Given the description of an element on the screen output the (x, y) to click on. 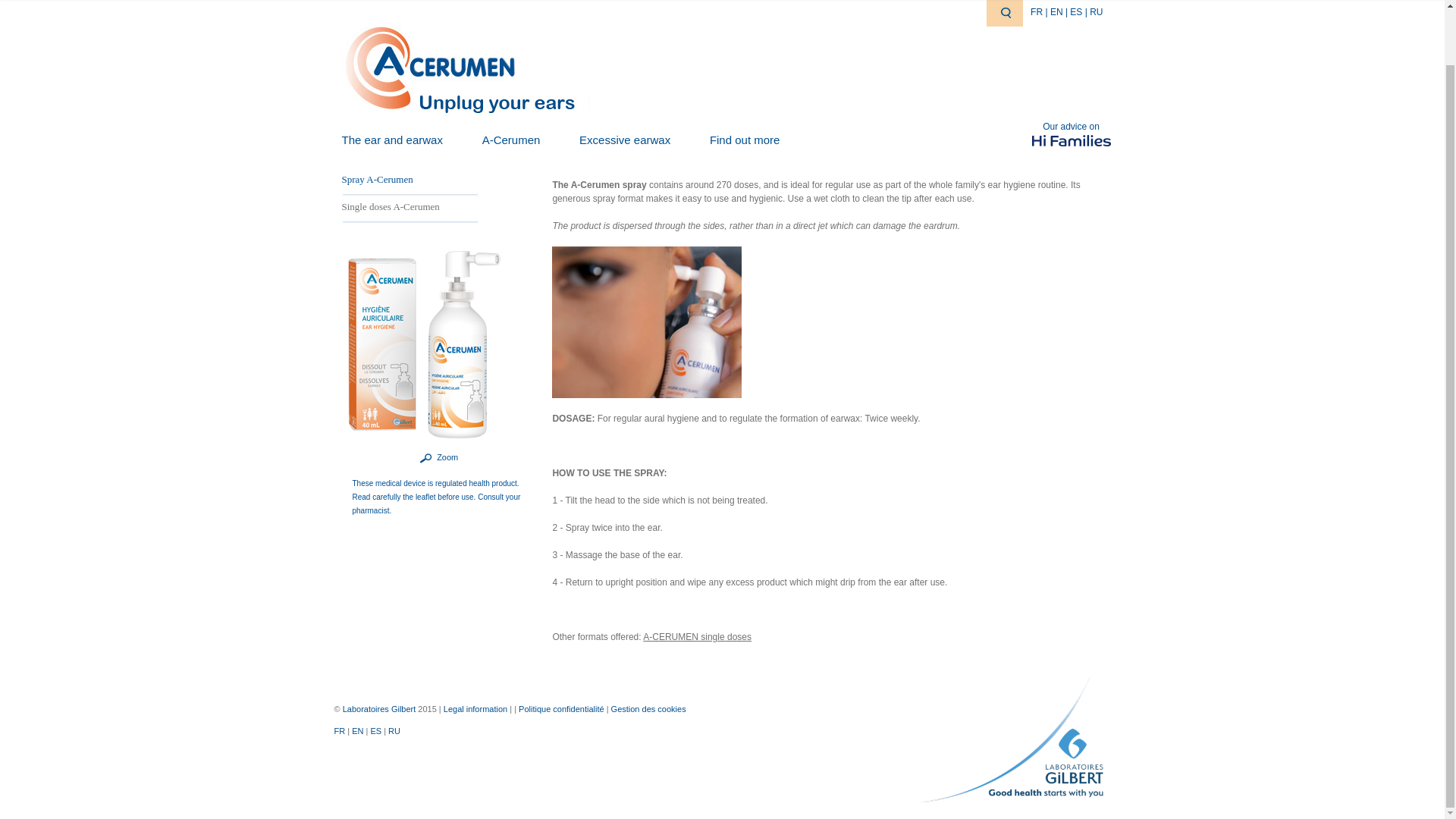
FR (1037, 11)
EN (1057, 11)
A-cerumen Russian (1095, 11)
Legal information (475, 707)
A-Cerumen (511, 140)
The ear and earwax (391, 140)
A-cerumen English (358, 730)
Site institutionnel des Laboratoires Gilbert (379, 707)
A-cerumen Russian (394, 730)
RU (1095, 11)
A-cerumen English (1057, 11)
ES (1077, 11)
